Given the description of an element on the screen output the (x, y) to click on. 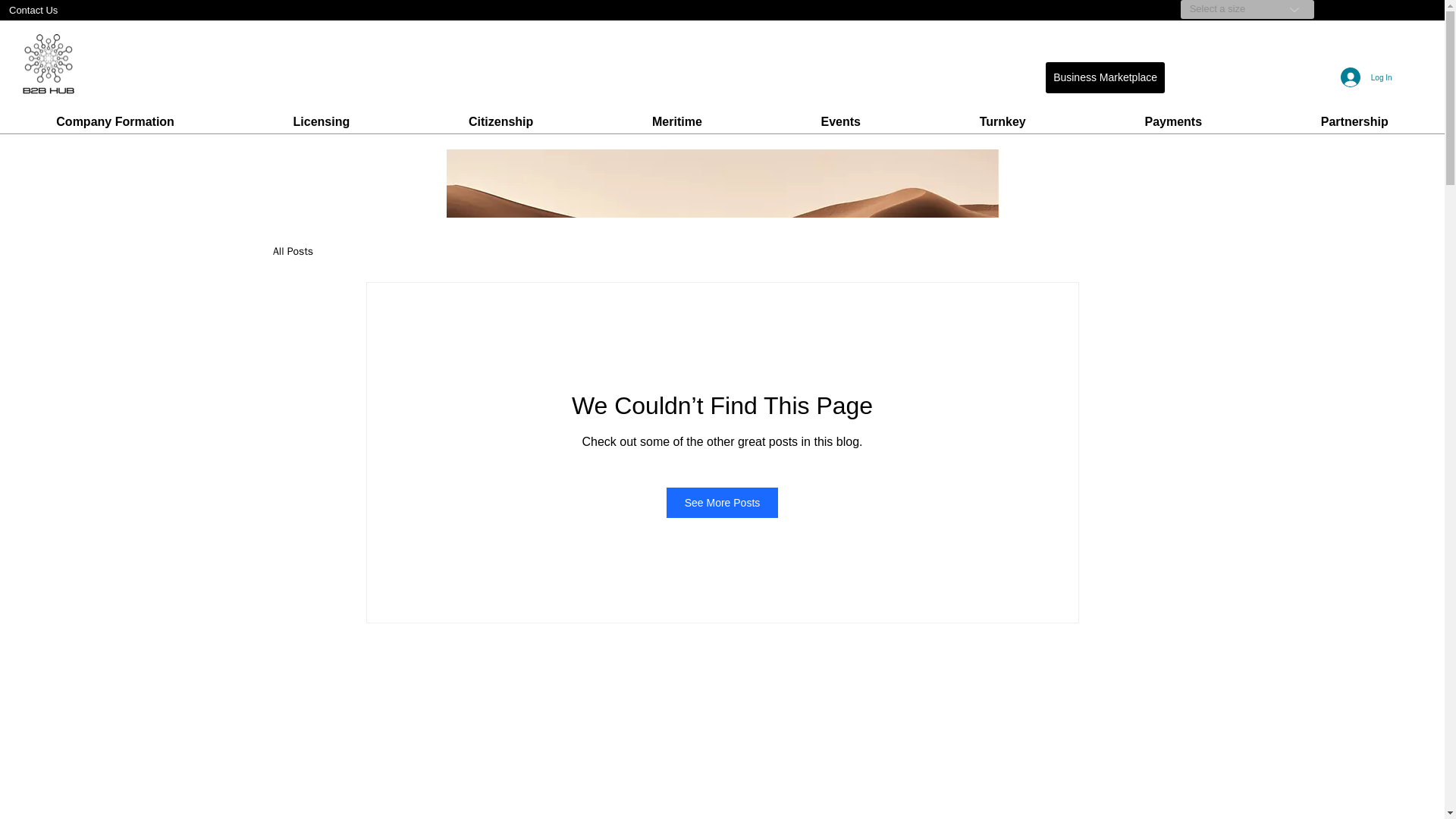
Events (840, 121)
Business Marketplace (1104, 77)
Payments (1172, 121)
Log In (1366, 77)
Contact Us (70, 10)
Contact Us (70, 10)
See More Posts (722, 502)
All Posts (293, 251)
Turnkey (1002, 121)
